Given the description of an element on the screen output the (x, y) to click on. 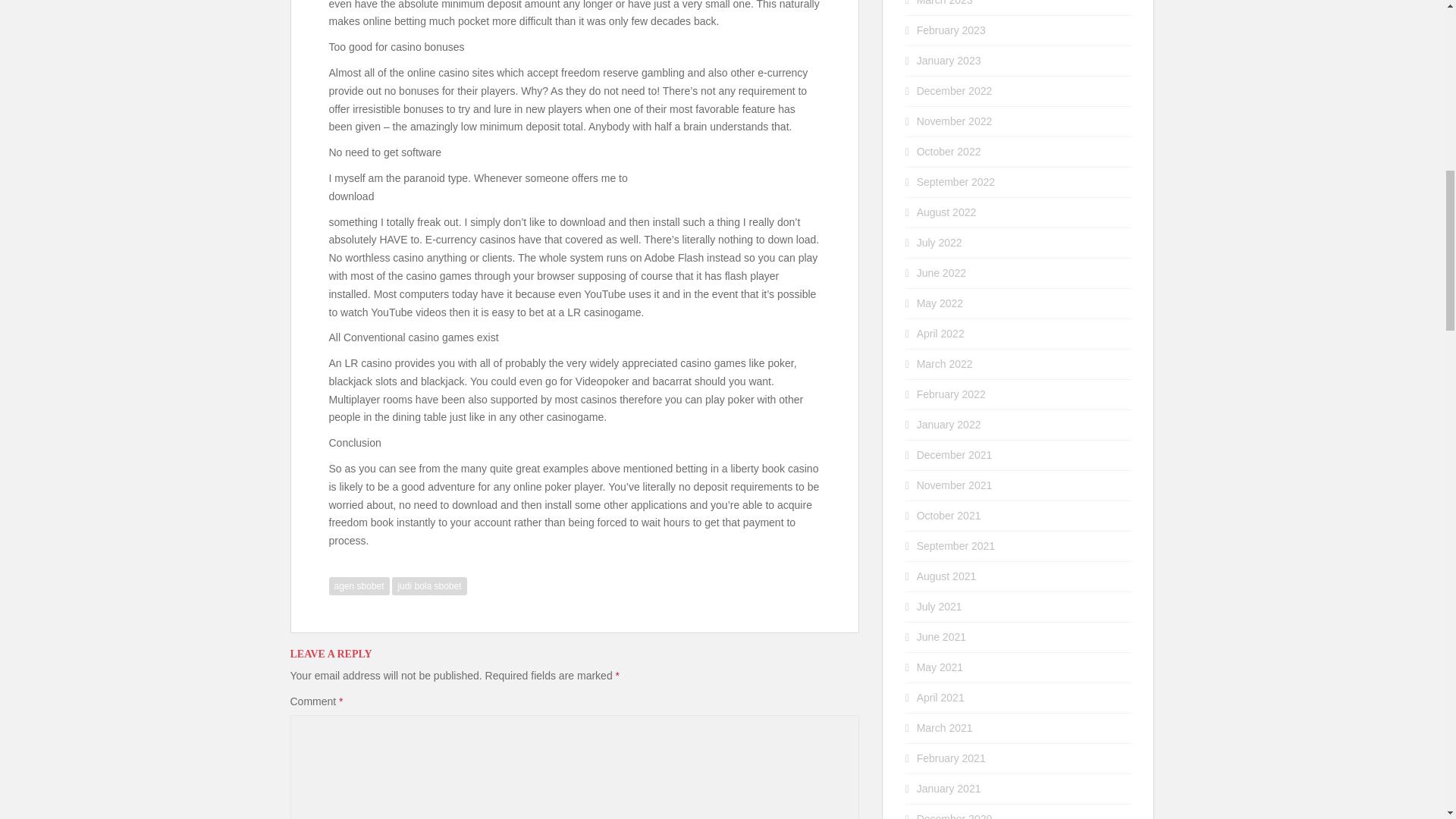
March 2023 (944, 2)
January 2023 (949, 60)
judi bola sbobet (428, 586)
agen sbobet (359, 586)
February 2023 (951, 30)
